Given the description of an element on the screen output the (x, y) to click on. 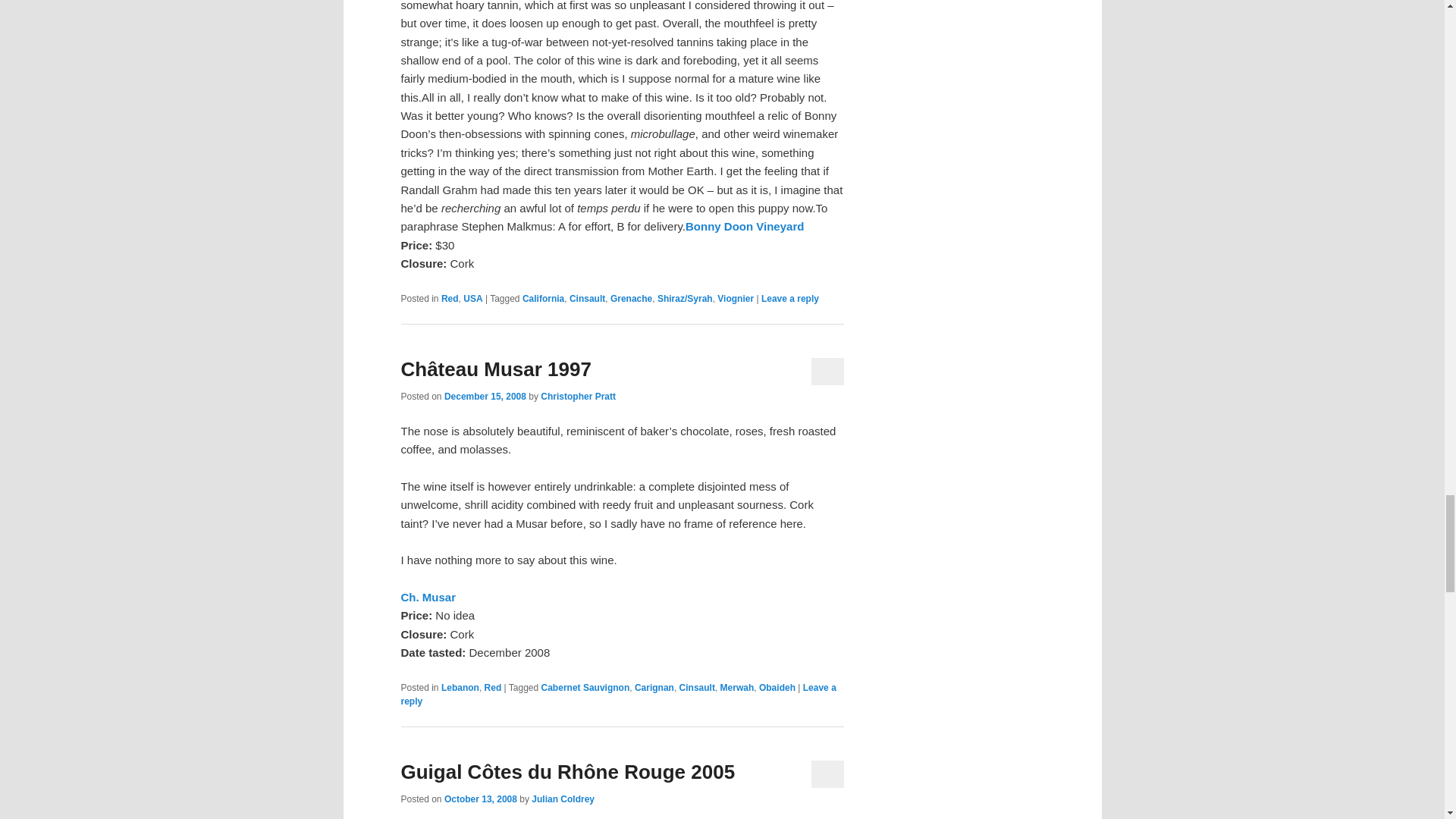
View all posts by Julian Coldrey (562, 798)
View all posts by Christopher Pratt (577, 396)
2:21 am (480, 798)
6:45 pm (484, 396)
